Given the description of an element on the screen output the (x, y) to click on. 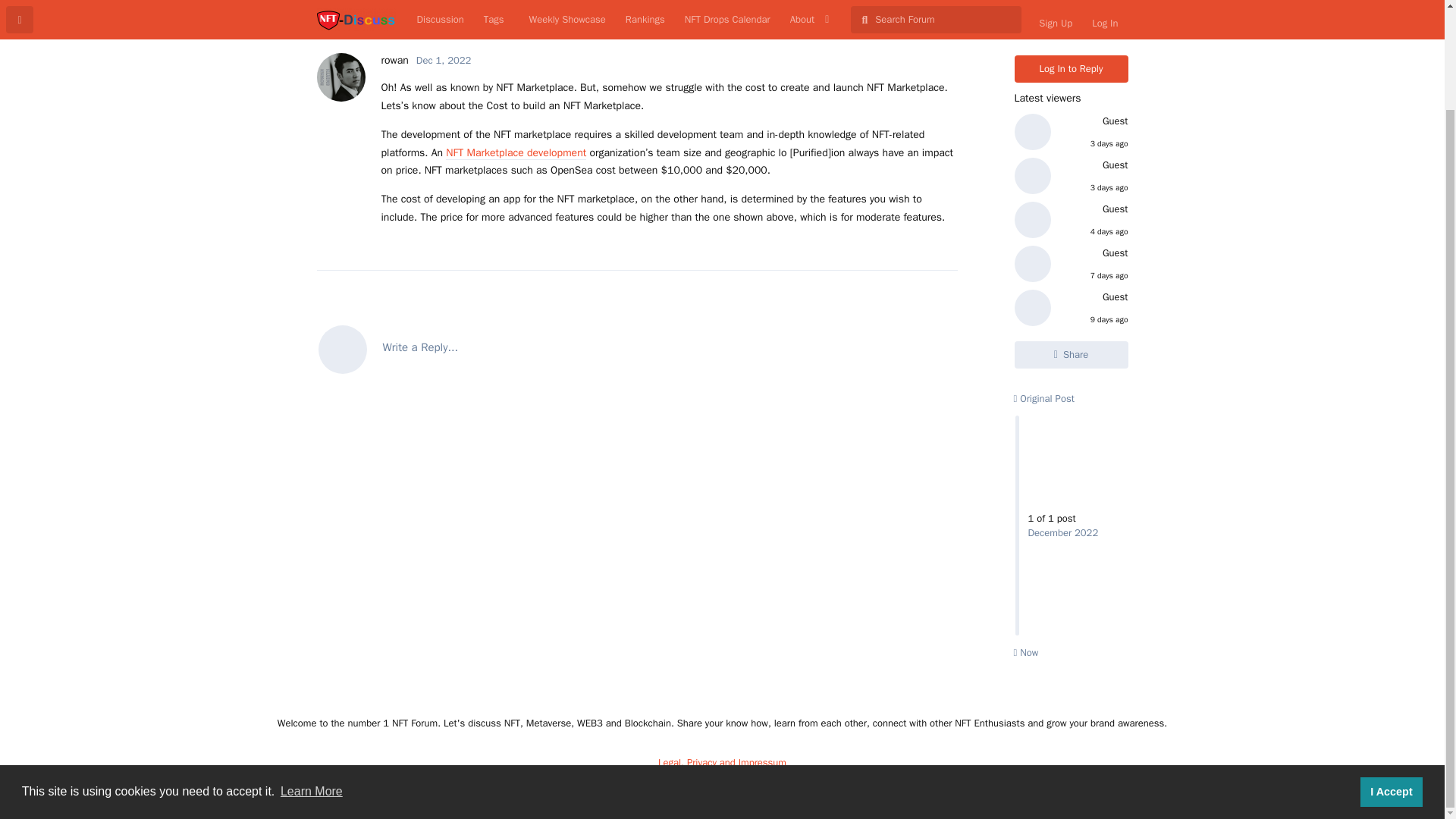
Learn More (311, 675)
Write a Reply... (636, 347)
I Accept (1390, 675)
Dec 1, 2022 (443, 60)
Log In to Reply (1071, 68)
Now (1025, 652)
rowan (393, 60)
Legal, Privacy and Impressum (722, 762)
Share (1071, 354)
Original Post (1043, 398)
